Given the description of an element on the screen output the (x, y) to click on. 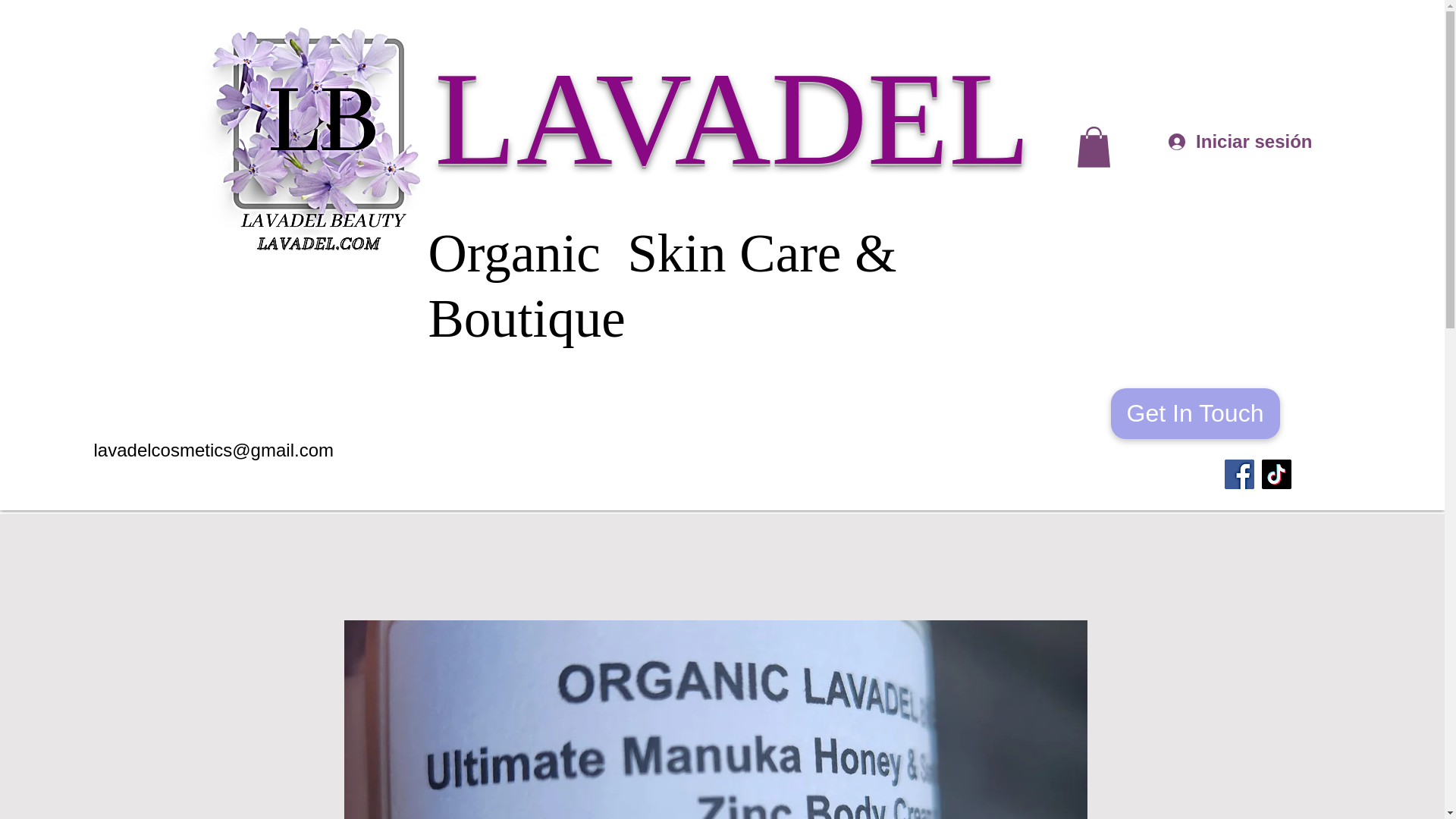
Get In Touch (1194, 413)
